Given the description of an element on the screen output the (x, y) to click on. 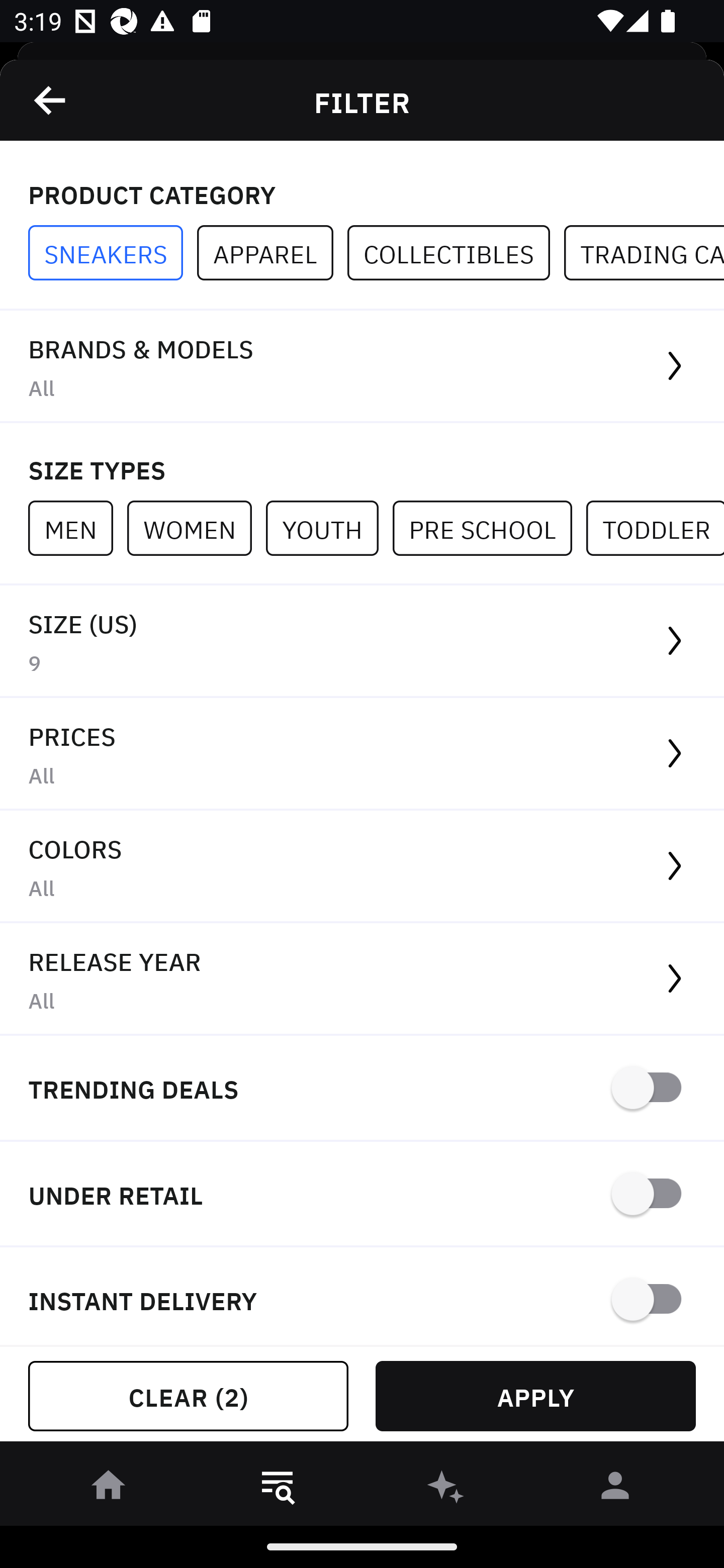
 (50, 100)
SNEAKERS (112, 252)
APPAREL (271, 252)
COLLECTIBLES (455, 252)
TRADING CARDS (643, 252)
BRANDS & MODELS All (362, 366)
MEN (77, 527)
WOMEN (196, 527)
YOUTH (328, 527)
PRE SCHOOL (489, 527)
TODDLER (655, 527)
SIZE (US) 9 (362, 640)
PRICES All (362, 753)
COLORS All (362, 866)
RELEASE YEAR All (362, 979)
TRENDING DEALS (362, 1088)
UNDER RETAIL (362, 1194)
INSTANT DELIVERY (362, 1296)
CLEAR (2) (188, 1396)
APPLY (535, 1396)
󰋜 (108, 1488)
󱎸 (277, 1488)
󰫢 (446, 1488)
󰀄 (615, 1488)
